Given the description of an element on the screen output the (x, y) to click on. 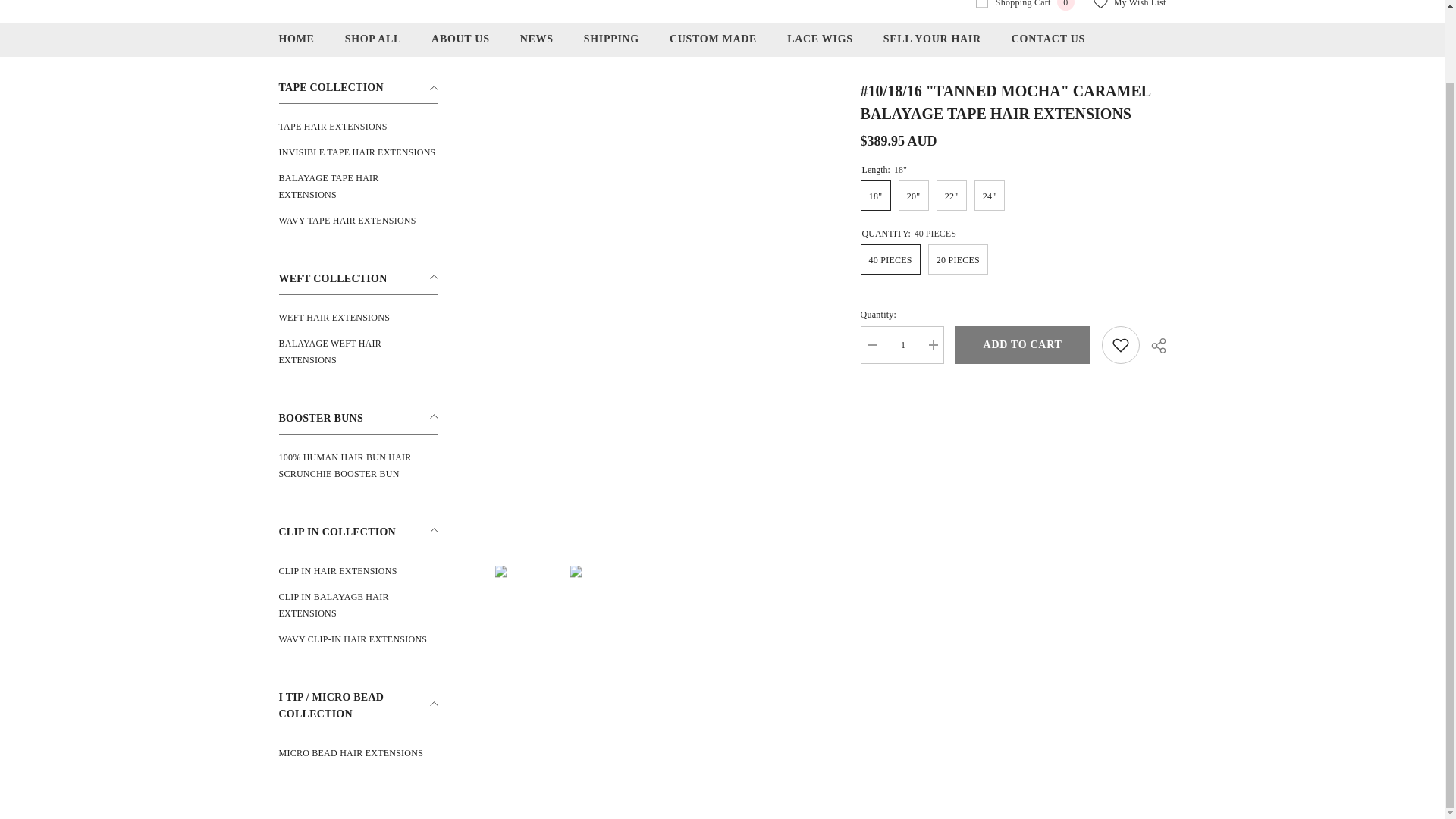
HOME (296, 43)
SHOP ALL (373, 43)
1 (901, 344)
My Wish List (1129, 4)
